Given the description of an element on the screen output the (x, y) to click on. 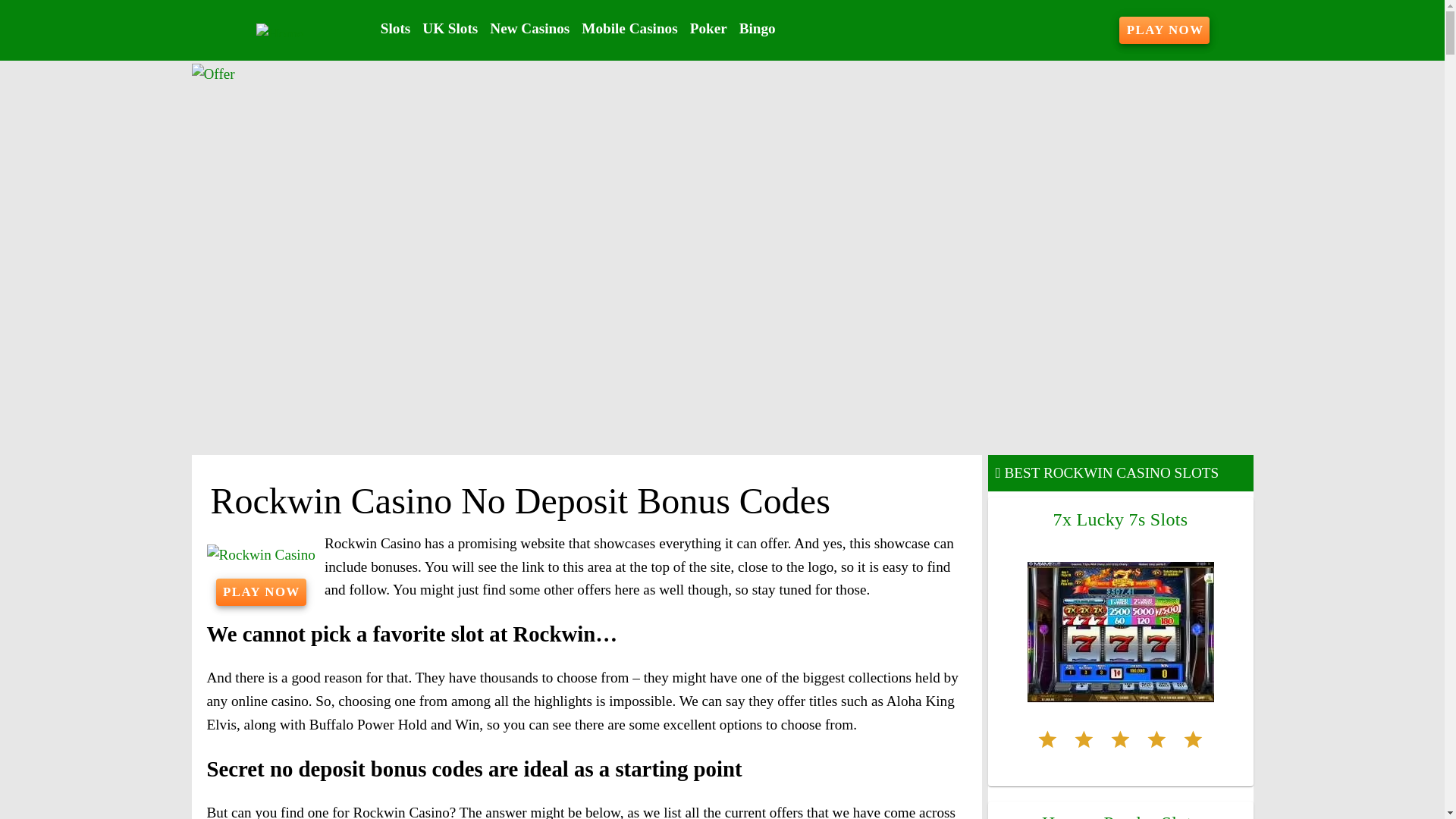
PLAY NOW (1164, 30)
Bingo (757, 28)
Mobile Casinos (628, 28)
New Casinos (529, 28)
PLAY NOW (260, 592)
Slots (395, 28)
UK Slots (449, 28)
Poker (708, 28)
